Given the description of an element on the screen output the (x, y) to click on. 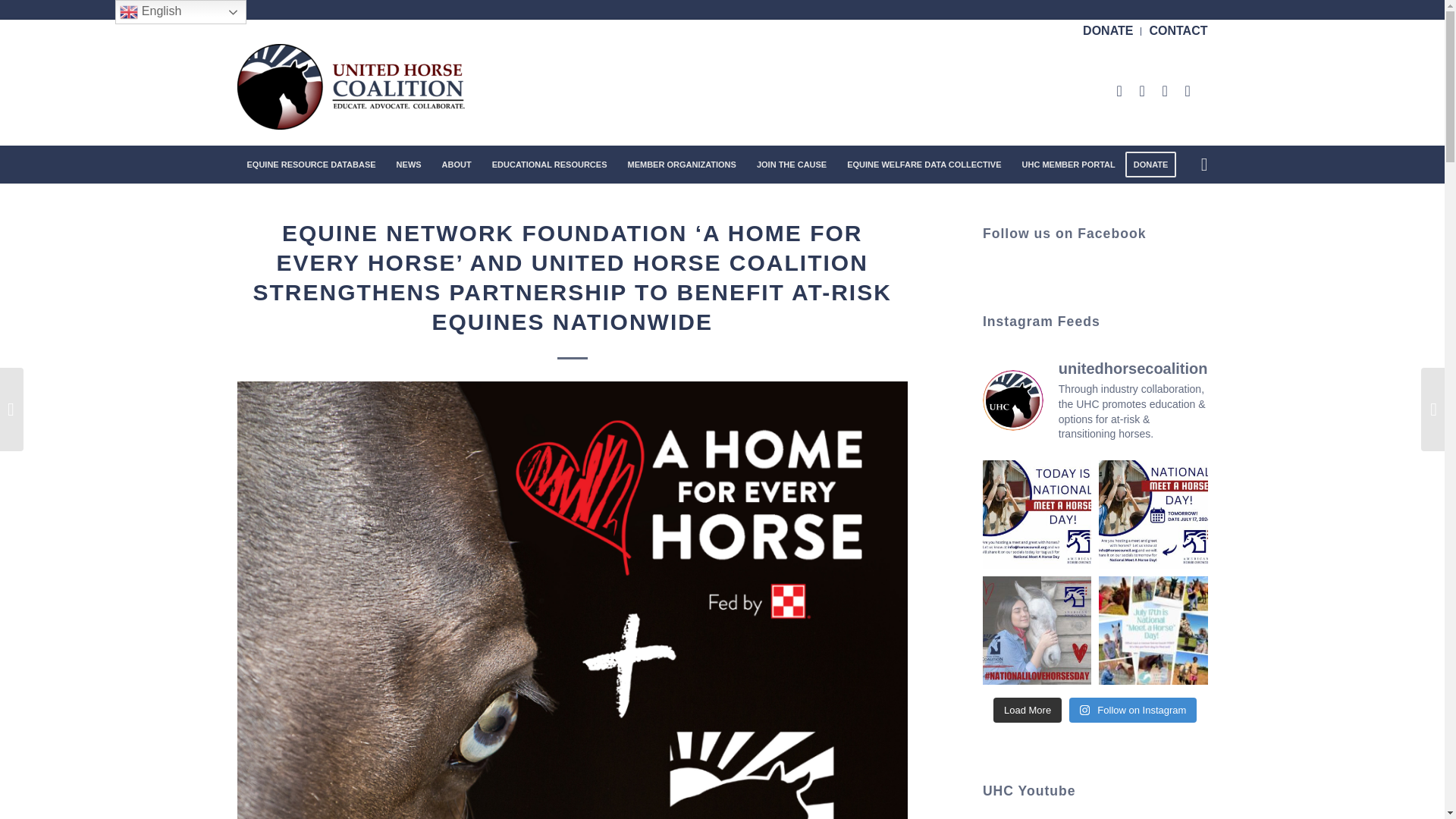
Twitter (1118, 90)
Youtube (1187, 90)
DONATE (1107, 30)
Facebook (1141, 90)
JOIN THE CAUSE (790, 164)
NEWS (407, 164)
Instagram (1164, 90)
ABOUT (455, 164)
EQUINE RESOURCE DATABASE (310, 164)
MEMBER ORGANIZATIONS (681, 164)
EDUCATIONAL RESOURCES (549, 164)
CONTACT (1177, 30)
